Given the description of an element on the screen output the (x, y) to click on. 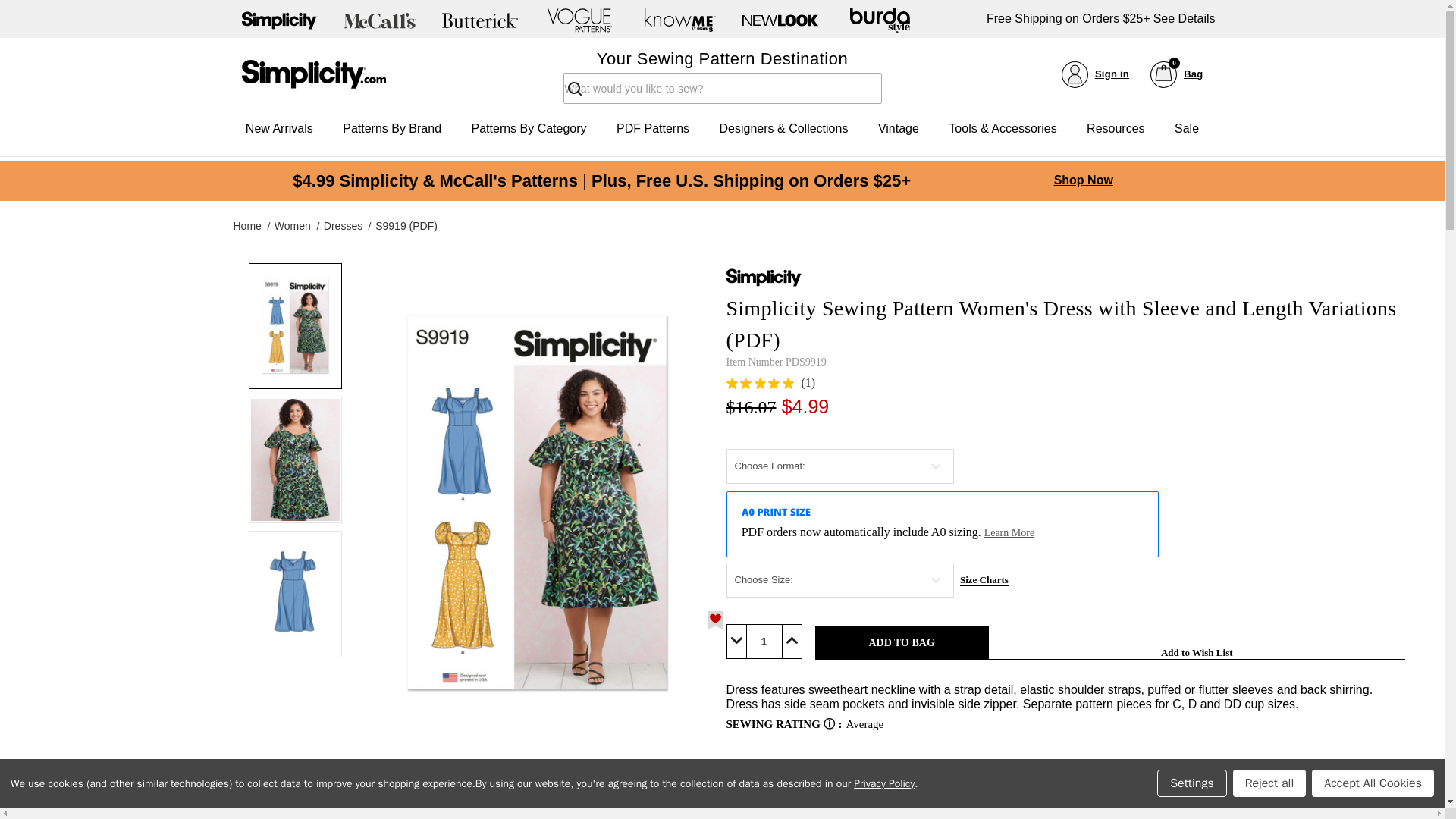
New Arrivals (1176, 73)
Add to Bag (279, 129)
Toggle Mobile Search (901, 642)
Patterns By Brand (575, 89)
Simplicity (391, 129)
1 (313, 73)
Sign in (764, 641)
See Details (1095, 73)
Search (1184, 18)
